Given the description of an element on the screen output the (x, y) to click on. 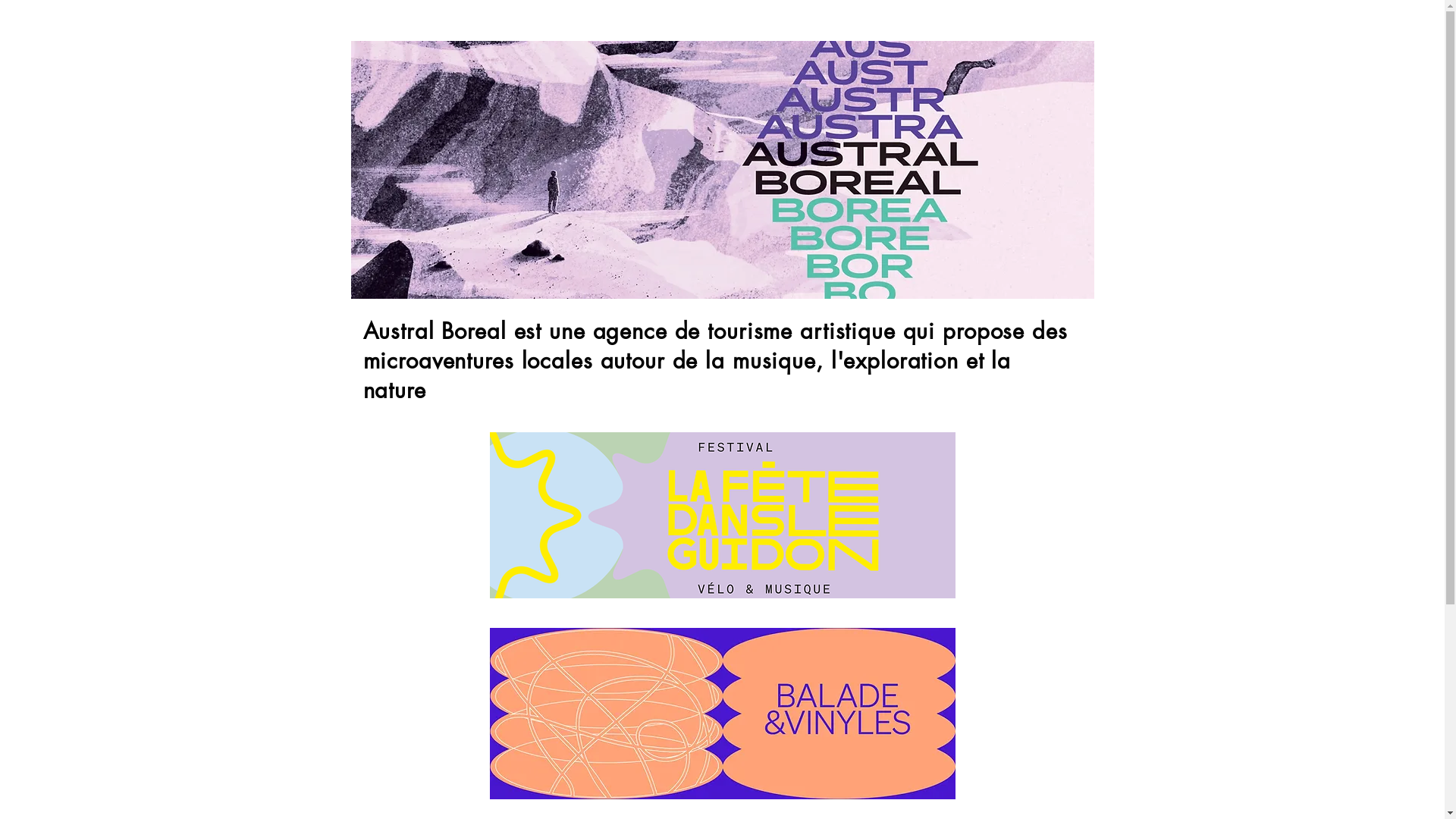
324861427_575527454395649_15371728658537 Element type: hover (722, 515)
322351498_1072501680388756_8836863223626 Element type: hover (722, 713)
